Given the description of an element on the screen output the (x, y) to click on. 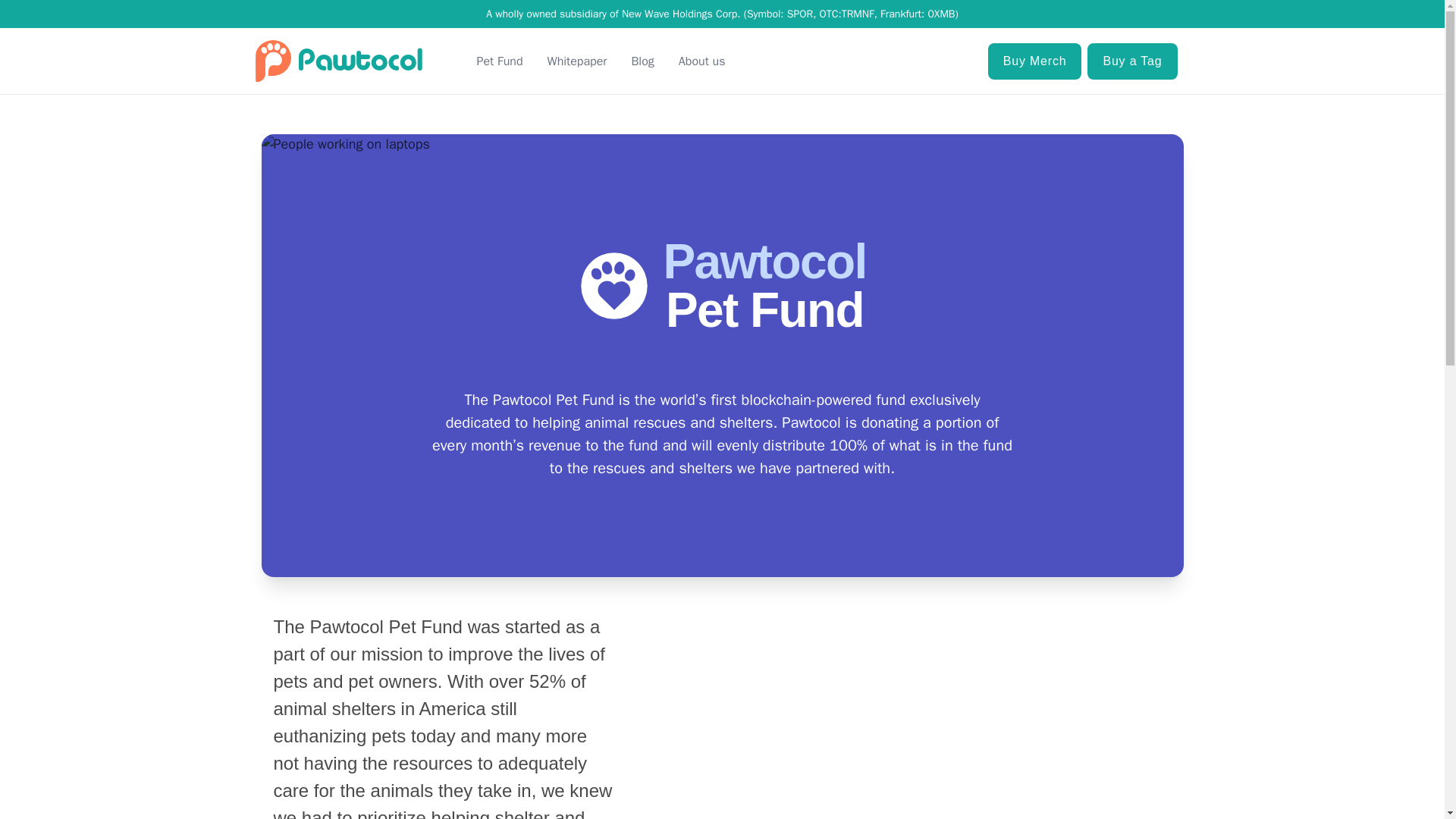
Buy a Tag (1131, 60)
Back to home page (338, 60)
Blog (641, 60)
Whitepaper (577, 60)
About us (701, 60)
Buy Merch (1034, 60)
Pet Fund (499, 60)
